Given the description of an element on the screen output the (x, y) to click on. 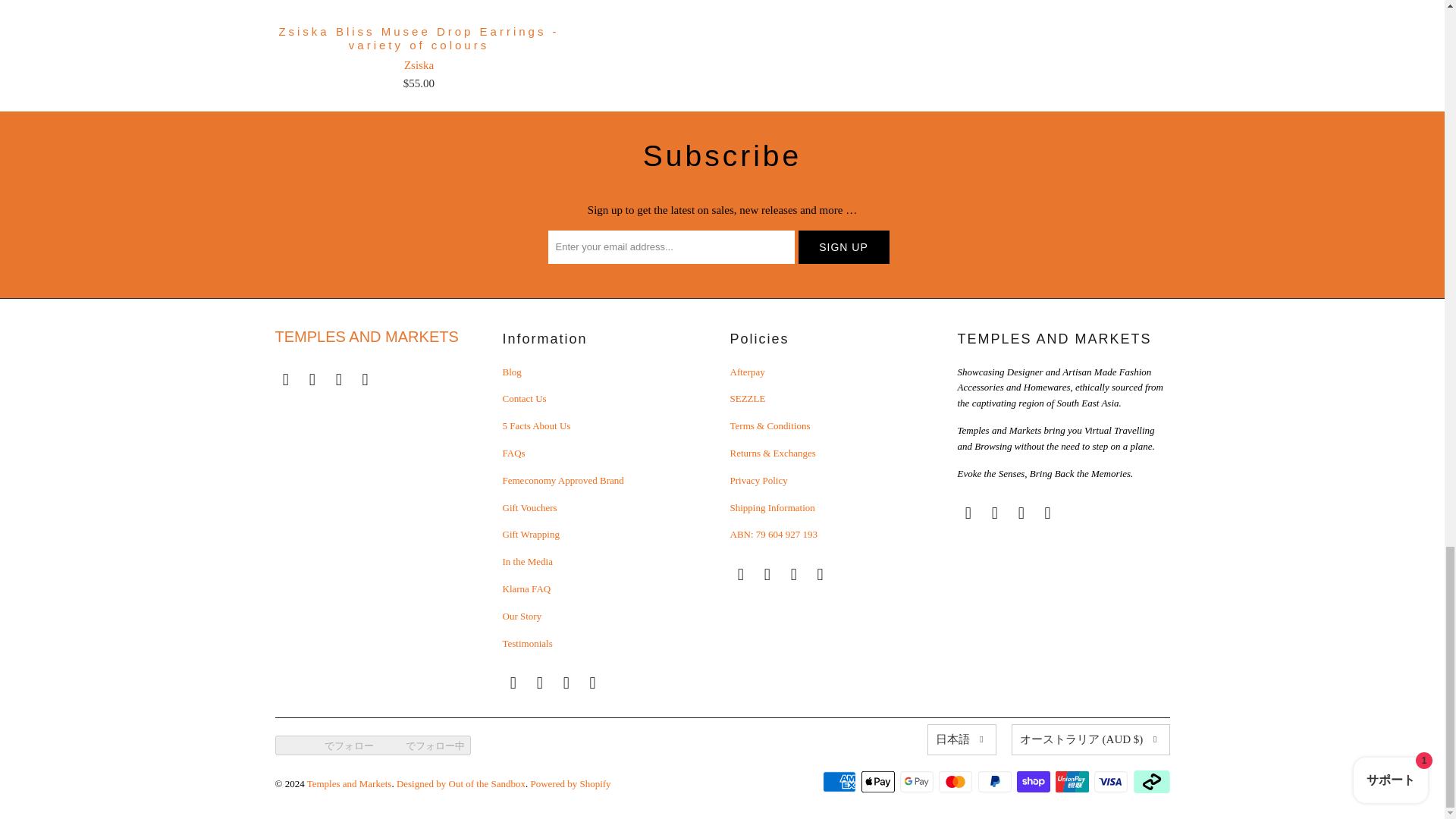
Email Temples and Markets (286, 380)
PayPal (996, 781)
American Express (840, 781)
Visa (1112, 781)
Email Temples and Markets (513, 683)
Apple Pay (879, 781)
Sign Up (842, 246)
Temples and Markets on Pinterest (365, 380)
Mastercard (957, 781)
Google Pay (917, 781)
Shop Pay (1034, 781)
Union Pay (1073, 781)
Temples and Markets on Instagram (338, 380)
Temples and Markets on Facebook (312, 380)
